Given the description of an element on the screen output the (x, y) to click on. 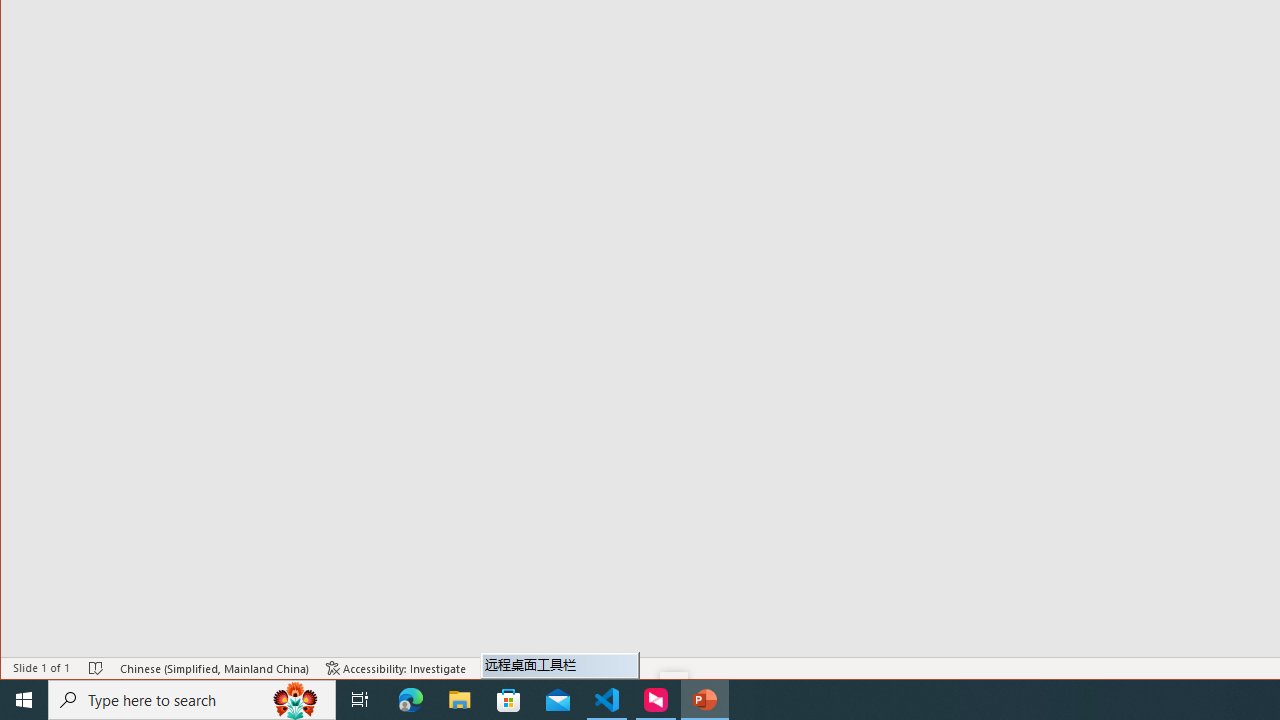
Microsoft Edge (411, 699)
